Given the description of an element on the screen output the (x, y) to click on. 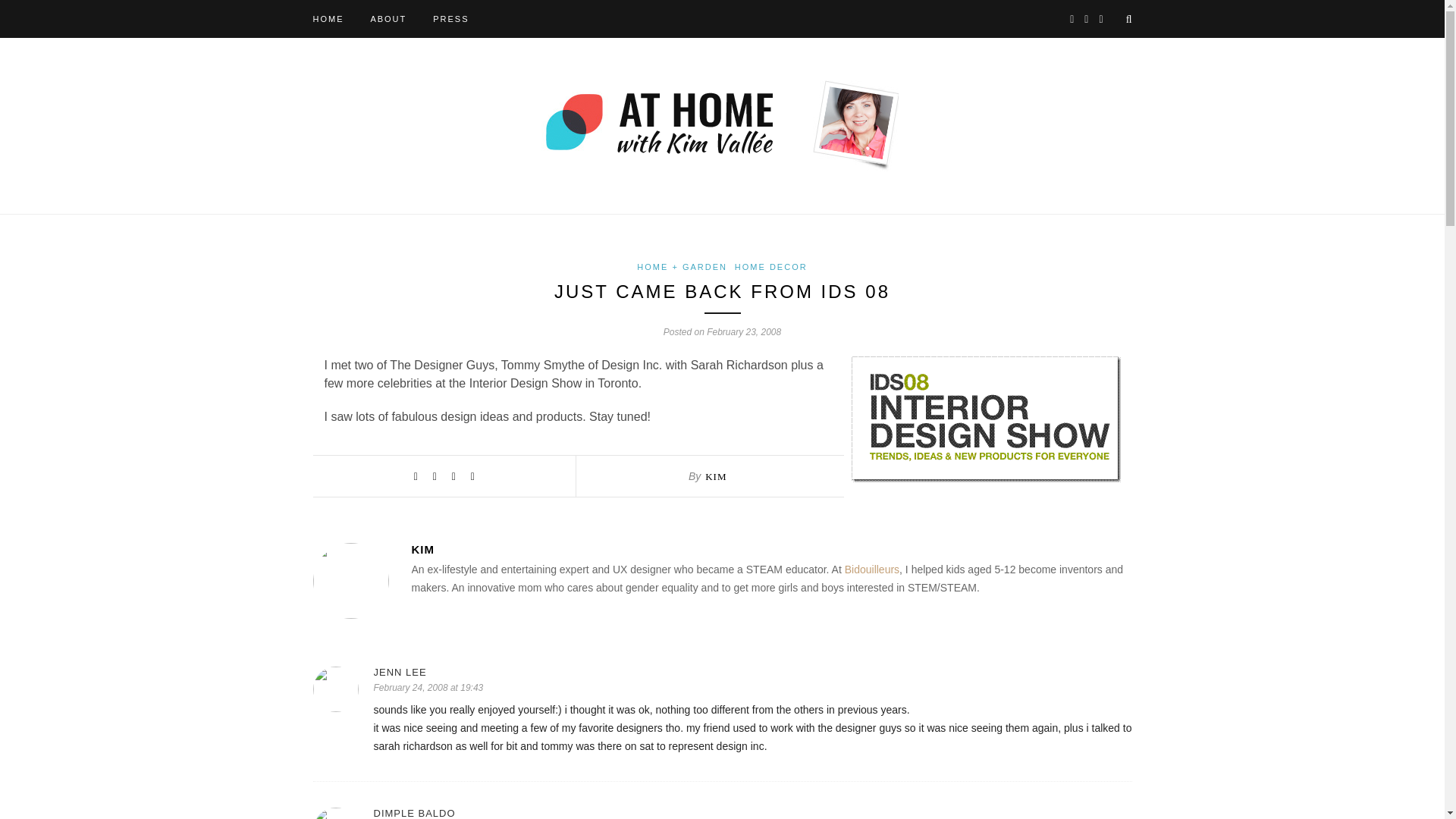
Bidouilleurs (871, 569)
KIM (715, 476)
KIM (770, 549)
Posts by Kim (715, 476)
Posts by Kim (770, 549)
JENN LEE (751, 672)
ABOUT (387, 18)
PRESS (450, 18)
About this family lifestyle blog (387, 18)
HOME DECOR (771, 266)
